Given the description of an element on the screen output the (x, y) to click on. 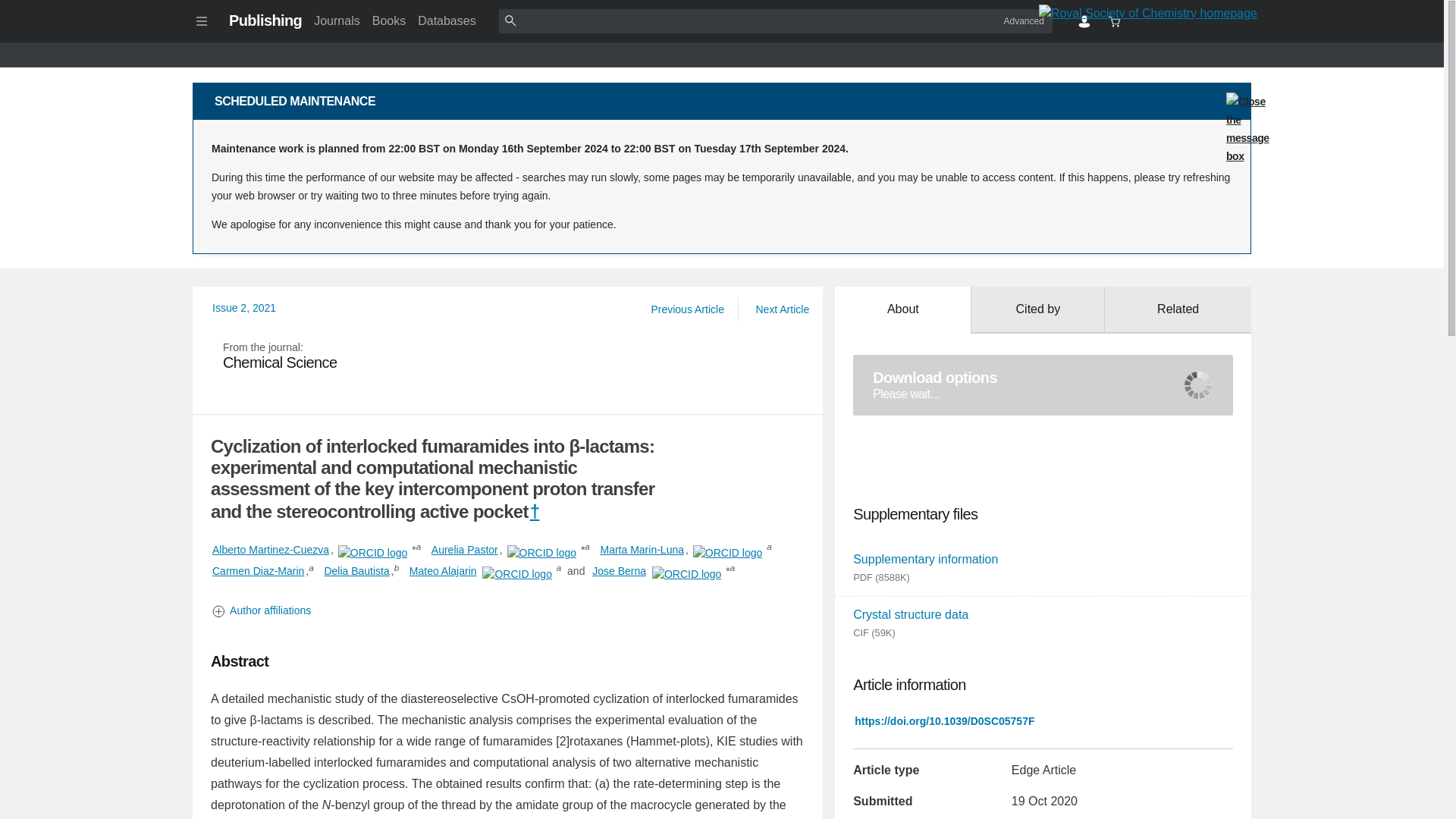
Publishing home page (264, 20)
Jose Berna (619, 570)
Delia Bautista (355, 570)
Next Article (508, 355)
Link to landing page via DOI (781, 309)
Mateo Alajarin (944, 720)
Previous Article (443, 570)
Author affiliations (687, 309)
Books (508, 610)
